Given the description of an element on the screen output the (x, y) to click on. 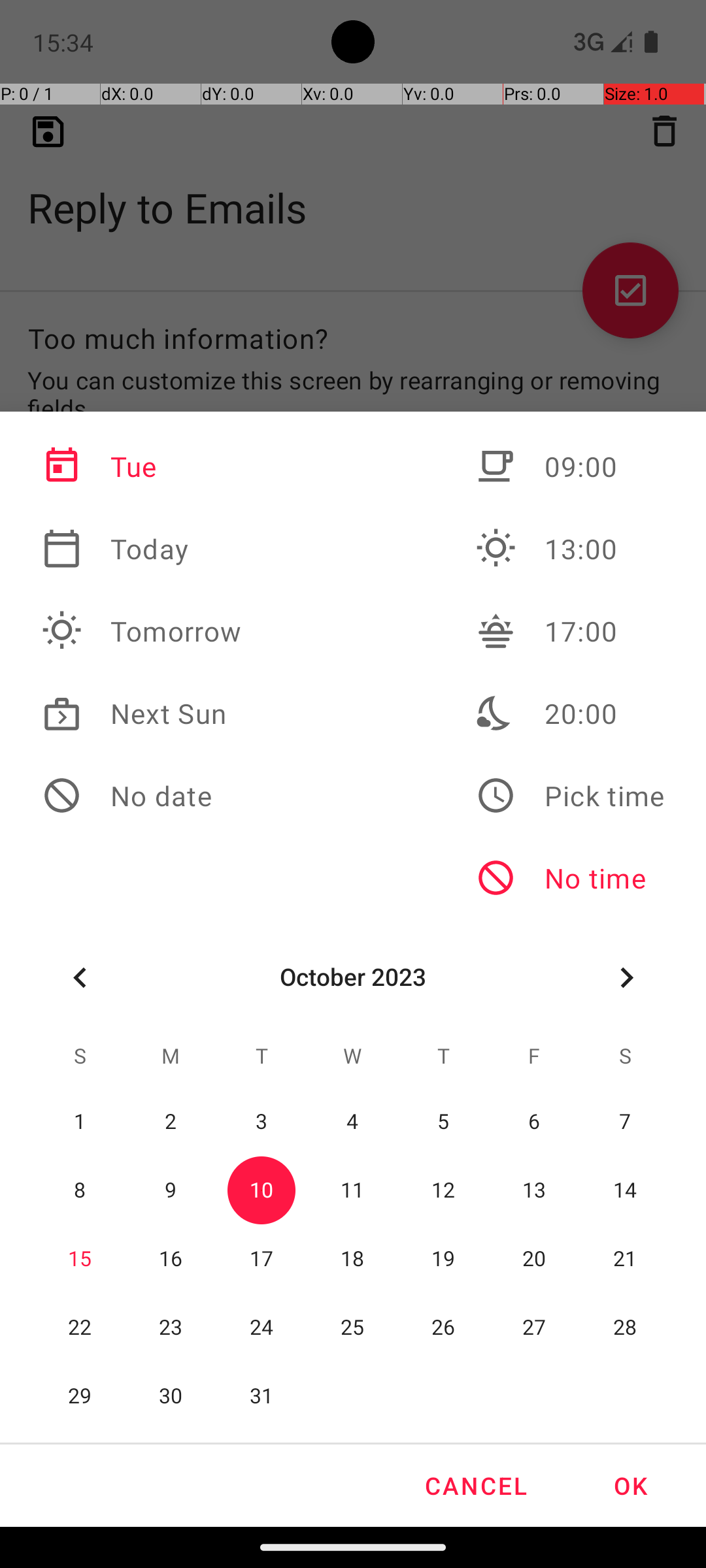
Tue Element type: android.widget.CompoundButton (141, 466)
